Given the description of an element on the screen output the (x, y) to click on. 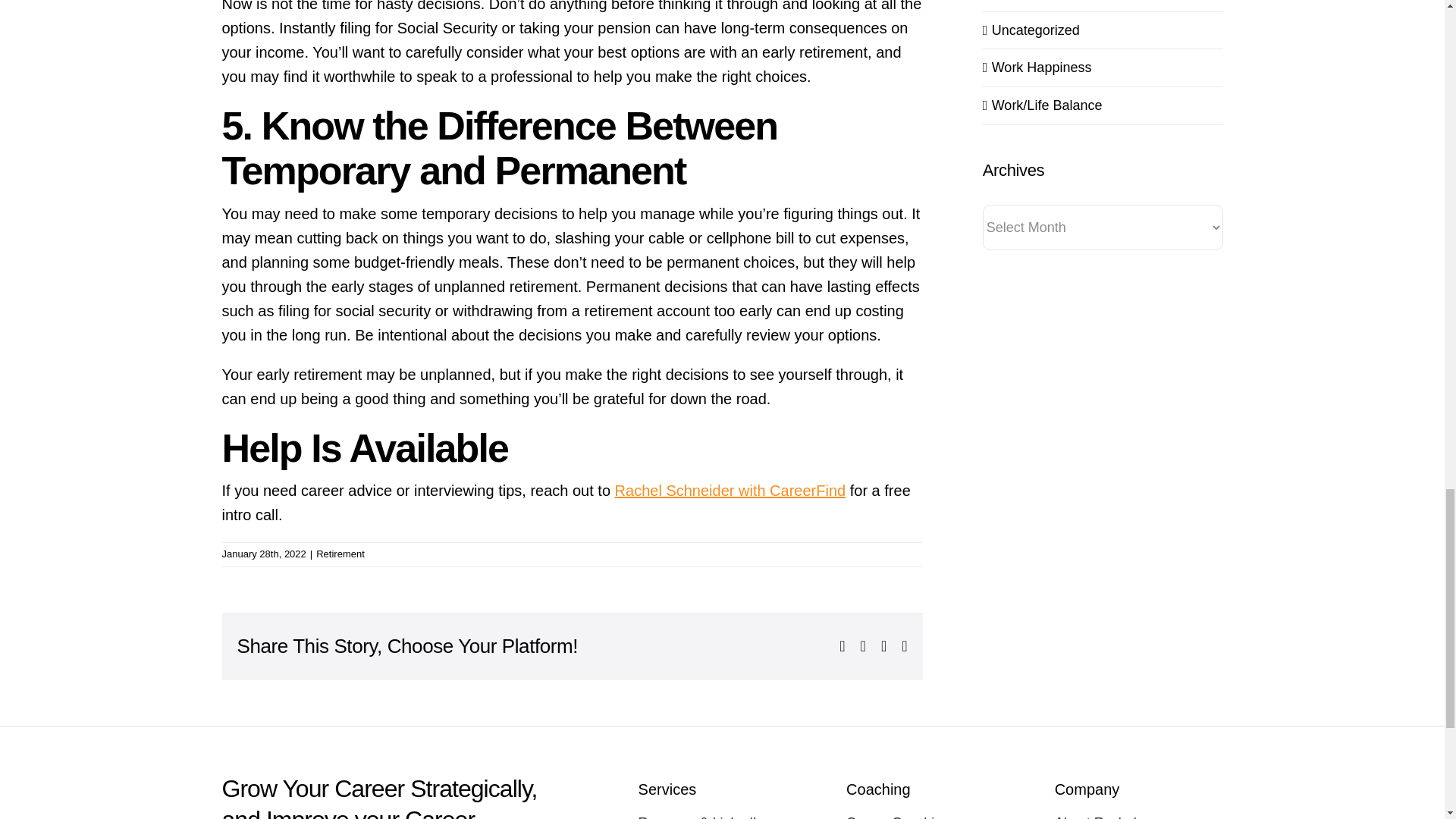
Rachel Schneider with CareerFind (729, 490)
Retirement (340, 553)
